Given the description of an element on the screen output the (x, y) to click on. 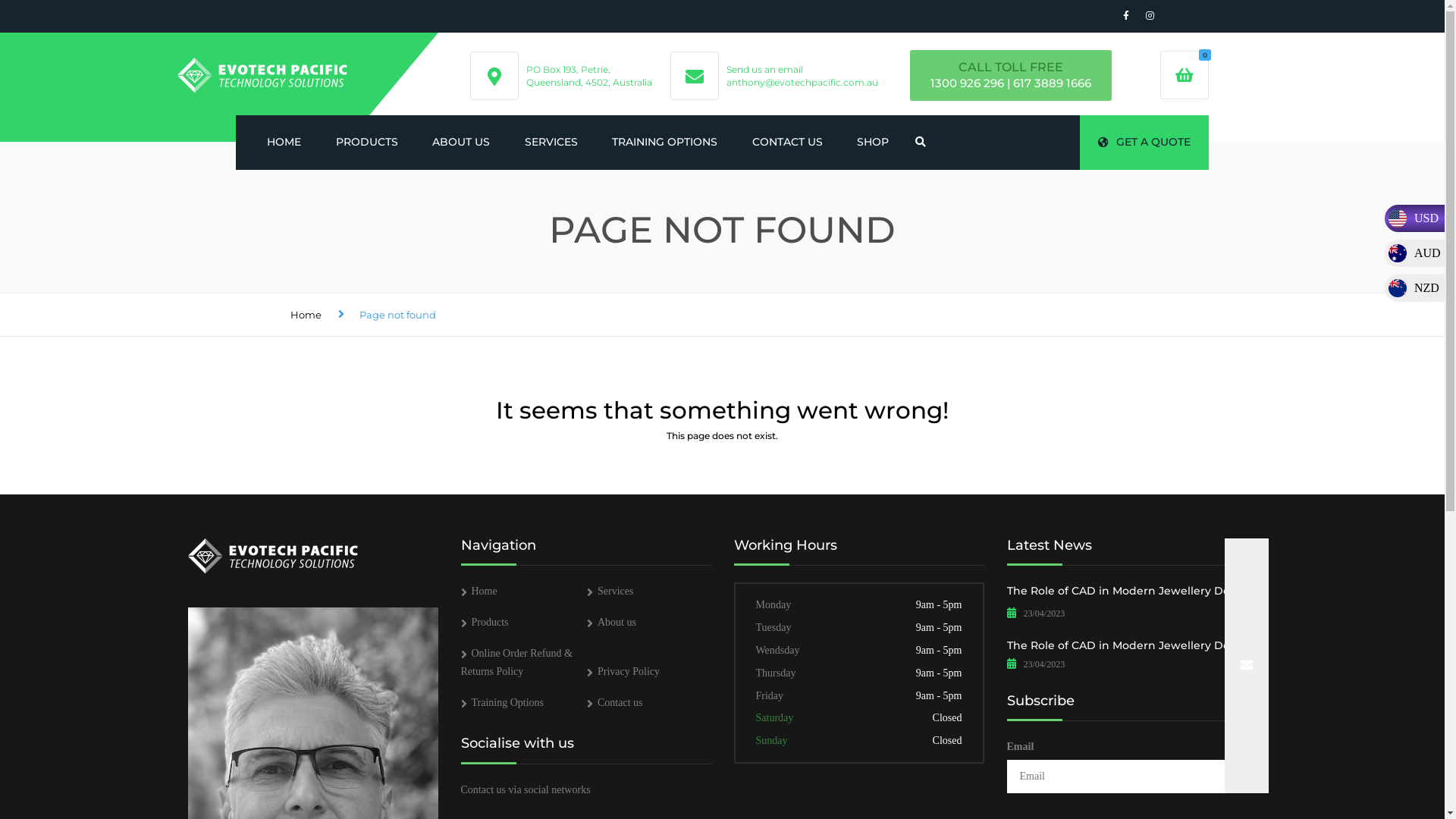
Services Element type: text (609, 590)
About us Element type: text (611, 621)
Contact us Element type: text (614, 702)
The Role of CAD in Modern Jewellery Design Element type: text (1130, 644)
PRODUCTS Element type: text (367, 142)
Products Element type: text (484, 621)
HOME Element type: text (283, 142)
TRAINING OPTIONS Element type: text (664, 142)
The Role of CAD in Modern Jewellery Design Element type: text (1130, 593)
Online Order Refund & Returns Policy Element type: text (516, 662)
Subscribe Element type: text (1245, 665)
ABOUT US Element type: text (460, 142)
Home Element type: text (304, 314)
Privacy Policy Element type: text (622, 671)
GET A QUOTE Element type: text (1143, 142)
CONTACT US Element type: text (787, 142)
0 Element type: text (1184, 74)
SHOP Element type: text (872, 142)
Home Element type: text (479, 590)
Training Options Element type: text (502, 702)
SERVICES Element type: text (550, 142)
